Given the description of an element on the screen output the (x, y) to click on. 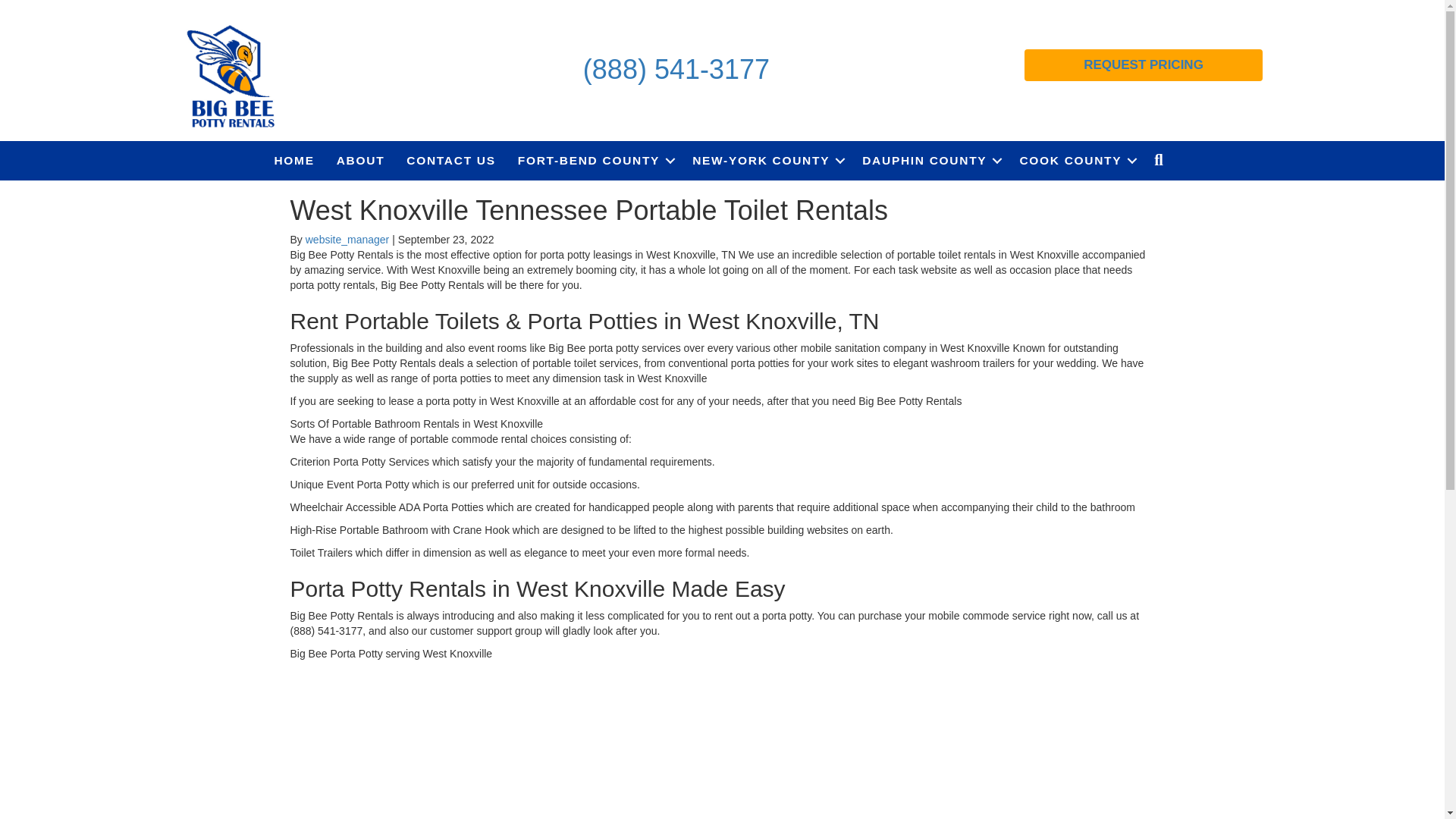
ABOUT (361, 160)
REQUEST PRICING (1144, 65)
DAUPHIN COUNTY (929, 160)
HOME (293, 160)
NEW-YORK COUNTY (765, 160)
FORT-BEND COUNTY (593, 160)
Skip to content (34, 6)
COOK COUNTY (1075, 160)
CONTACT US (450, 160)
